Given the description of an element on the screen output the (x, y) to click on. 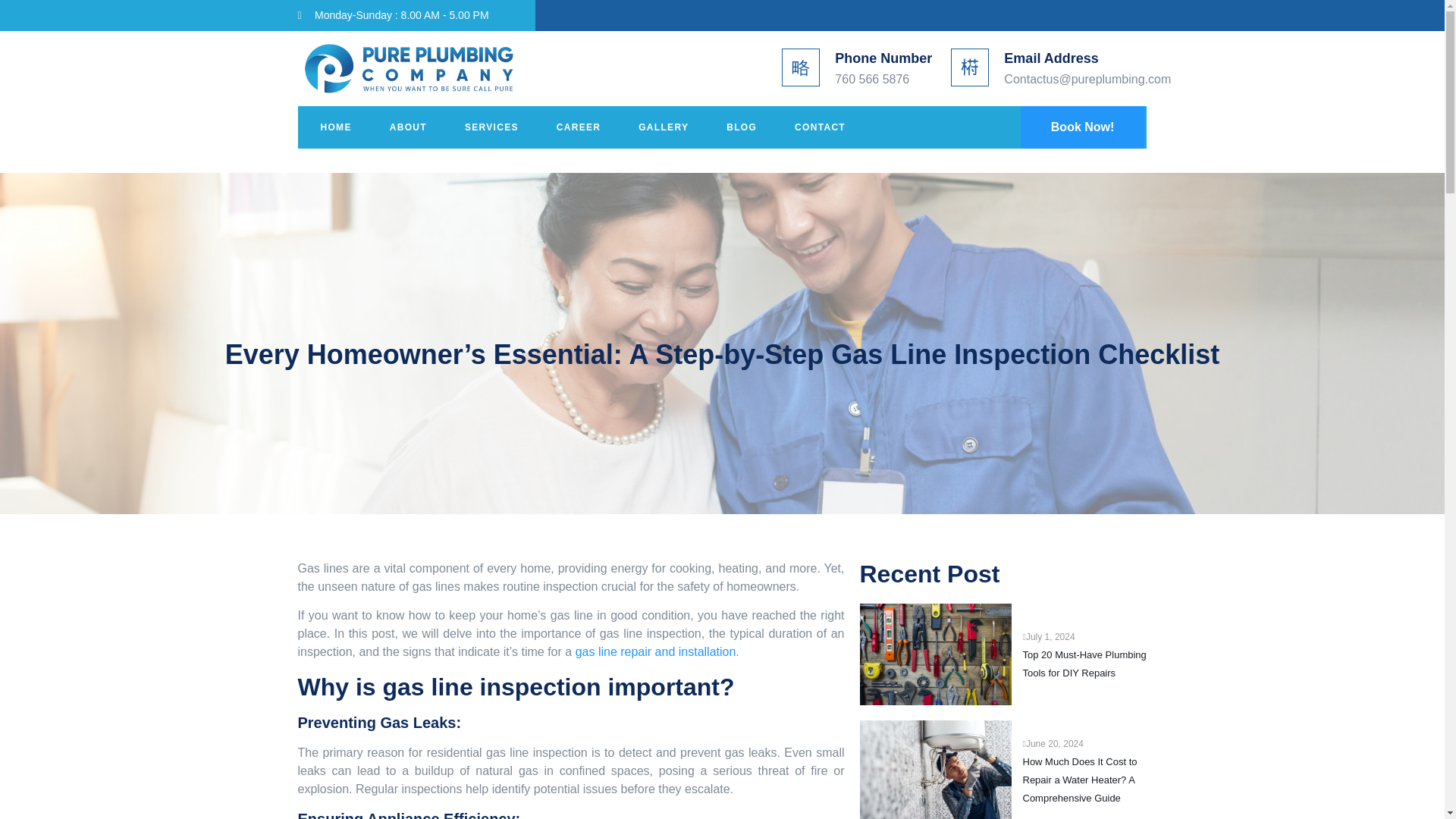
Phone Number (882, 58)
gas line repair and installation (655, 651)
Book Now! (1082, 127)
Email Address (1050, 58)
760 566 5876 (871, 78)
